Given the description of an element on the screen output the (x, y) to click on. 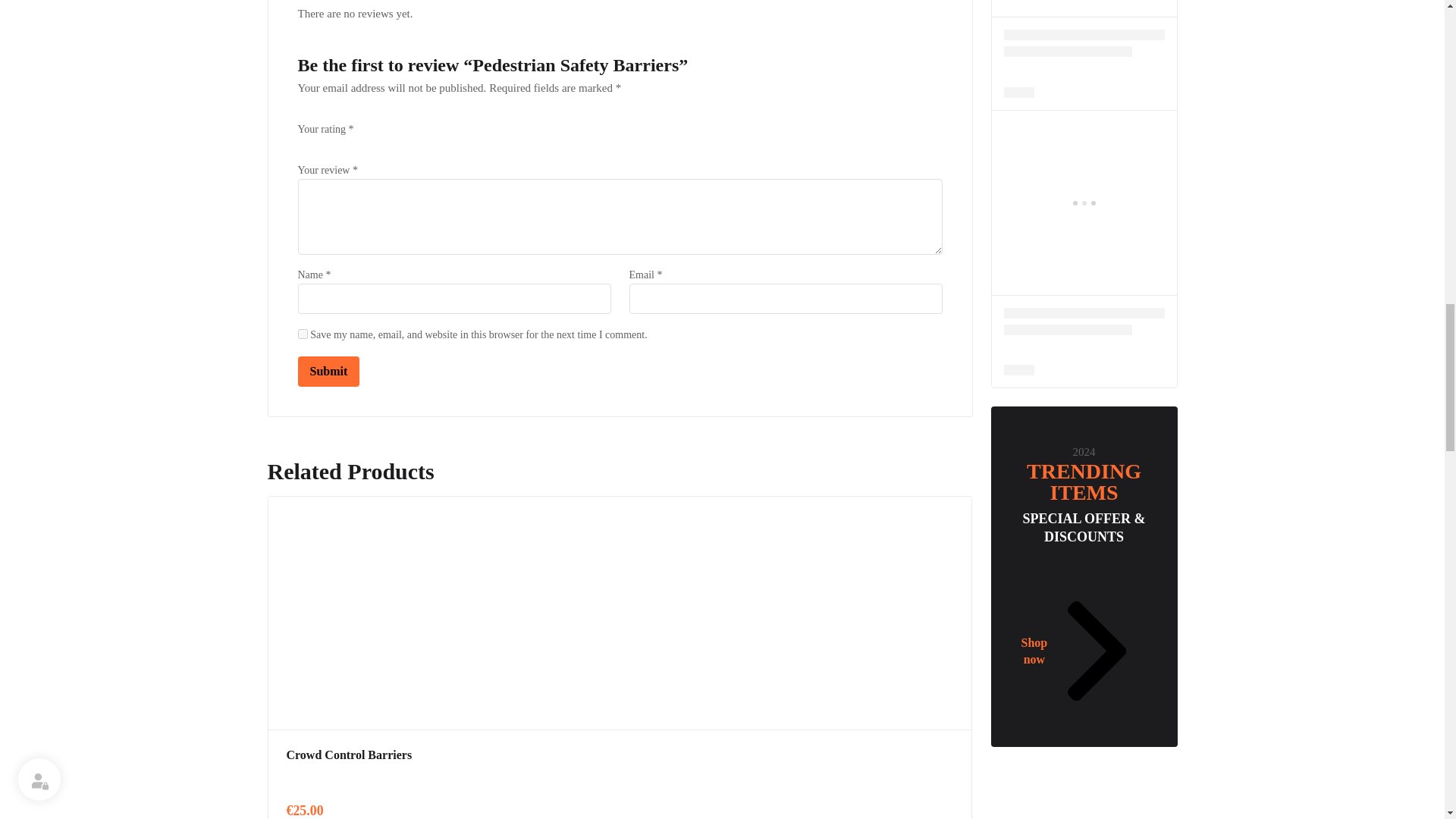
Read more avbout Crowd Control Barriers (349, 754)
yes (302, 334)
Submit (328, 371)
